Given the description of an element on the screen output the (x, y) to click on. 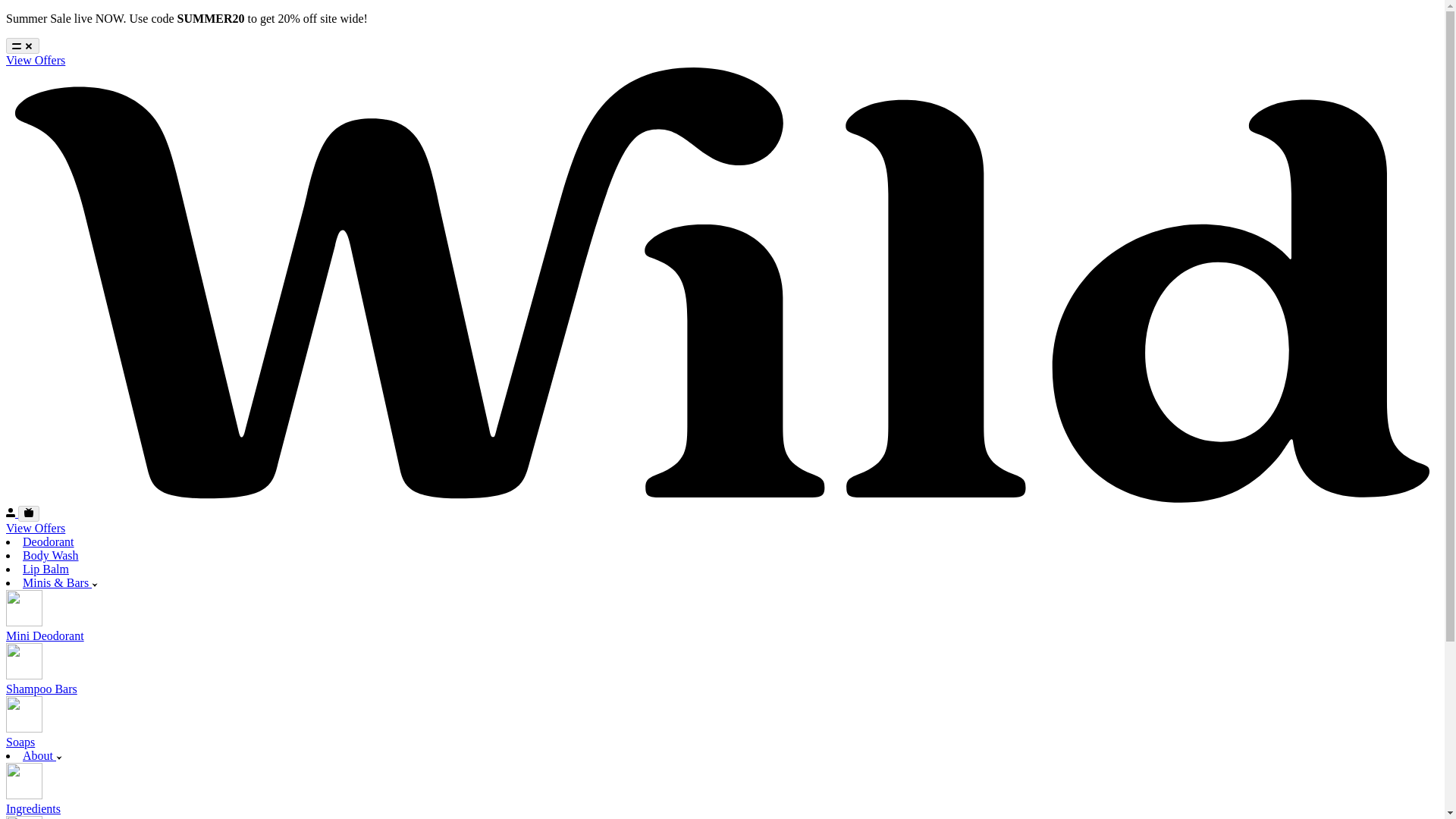
About (39, 755)
Lip Balm (45, 568)
View Offers (35, 527)
Body Wash (50, 554)
Deodorant (48, 541)
View Offers (35, 60)
